Given the description of an element on the screen output the (x, y) to click on. 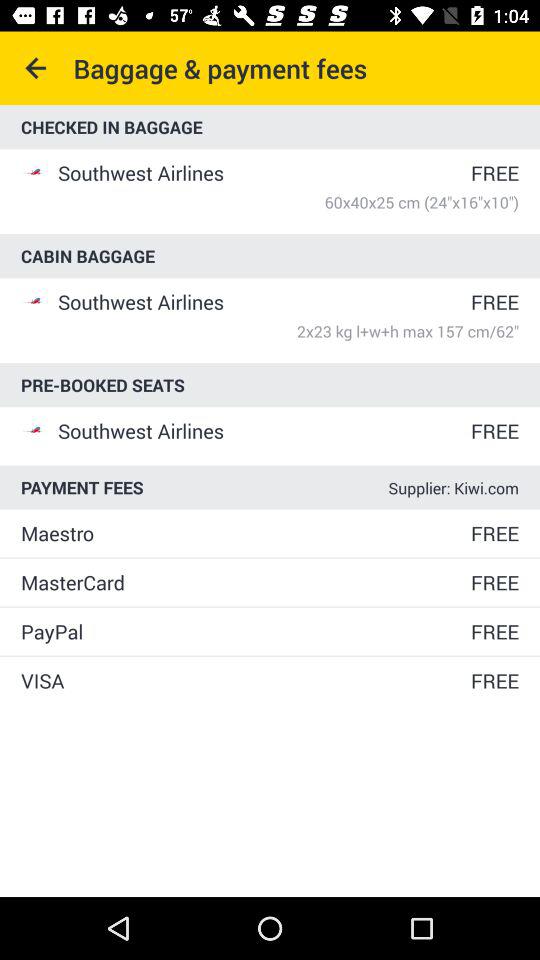
tap item next to free item (244, 680)
